Given the description of an element on the screen output the (x, y) to click on. 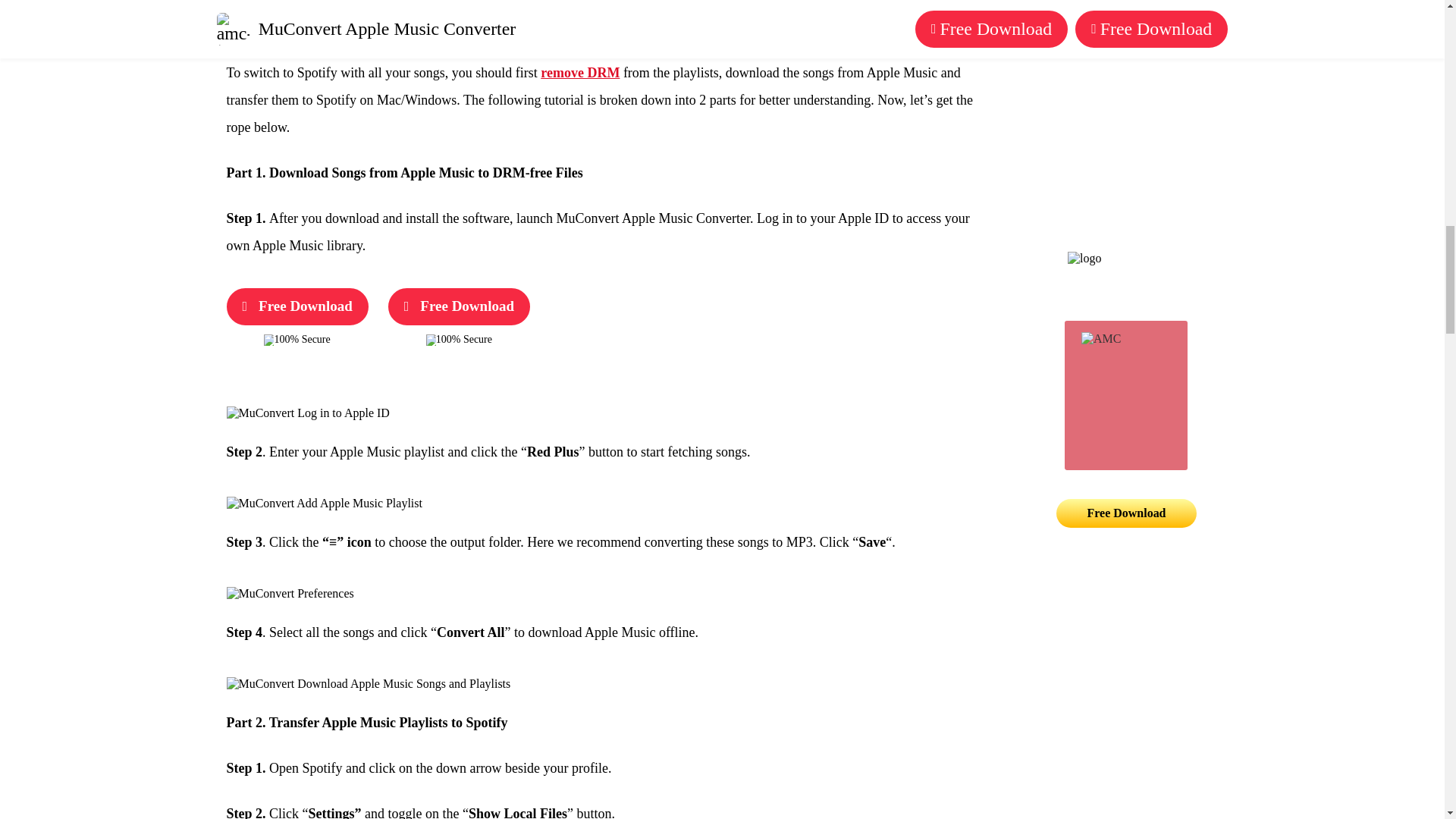
remove DRM (580, 72)
Free Download (458, 306)
Free Download (296, 306)
